Given the description of an element on the screen output the (x, y) to click on. 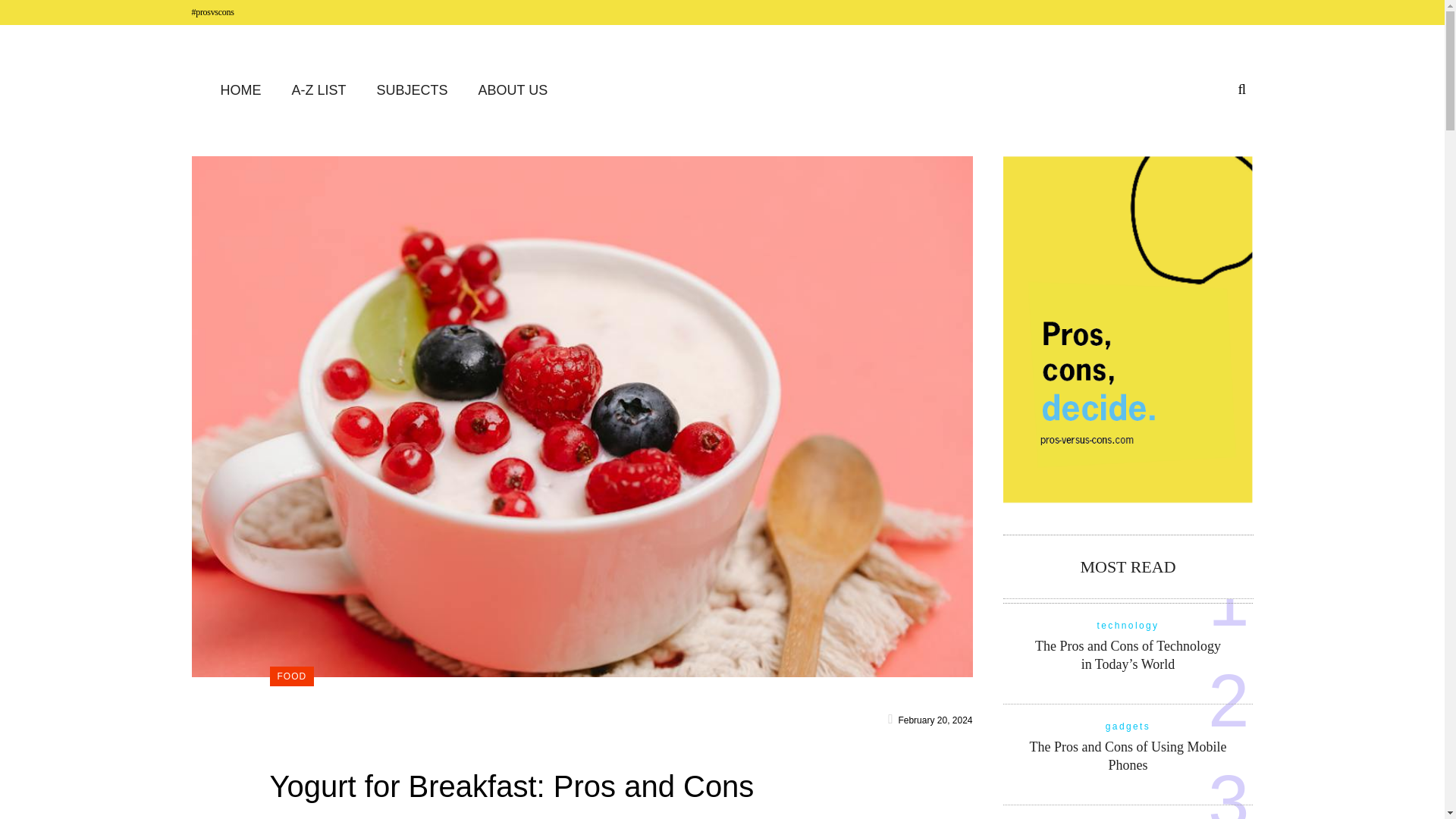
The Pros and Cons of Using Mobile Phones (1128, 756)
